Given the description of an element on the screen output the (x, y) to click on. 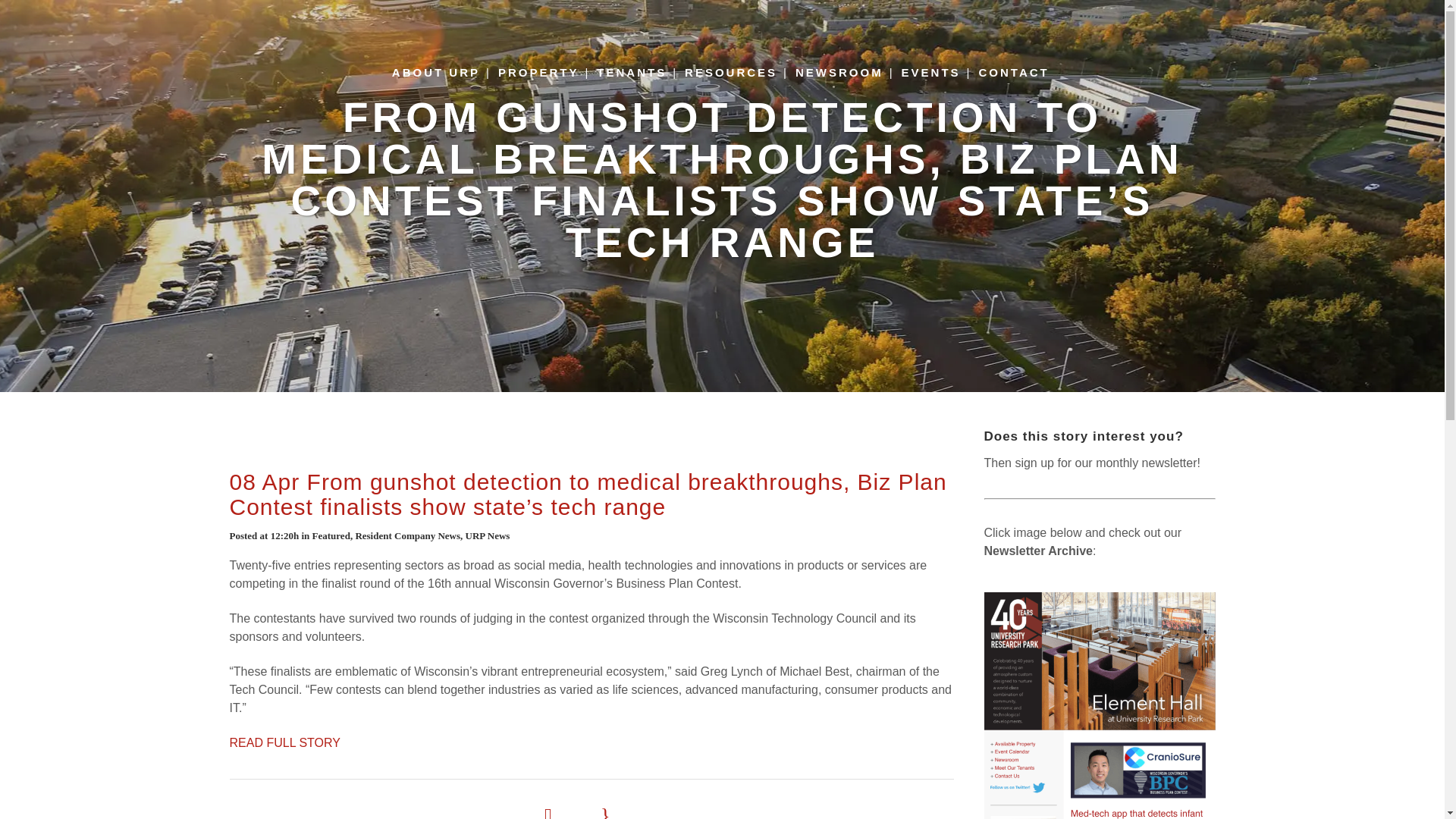
RESOURCES (730, 72)
NEWSROOM (839, 72)
TENANTS (631, 72)
ABOUT URP (435, 72)
PROPERTY (538, 72)
CONTACT (1014, 72)
EVENTS (930, 72)
